Given the description of an element on the screen output the (x, y) to click on. 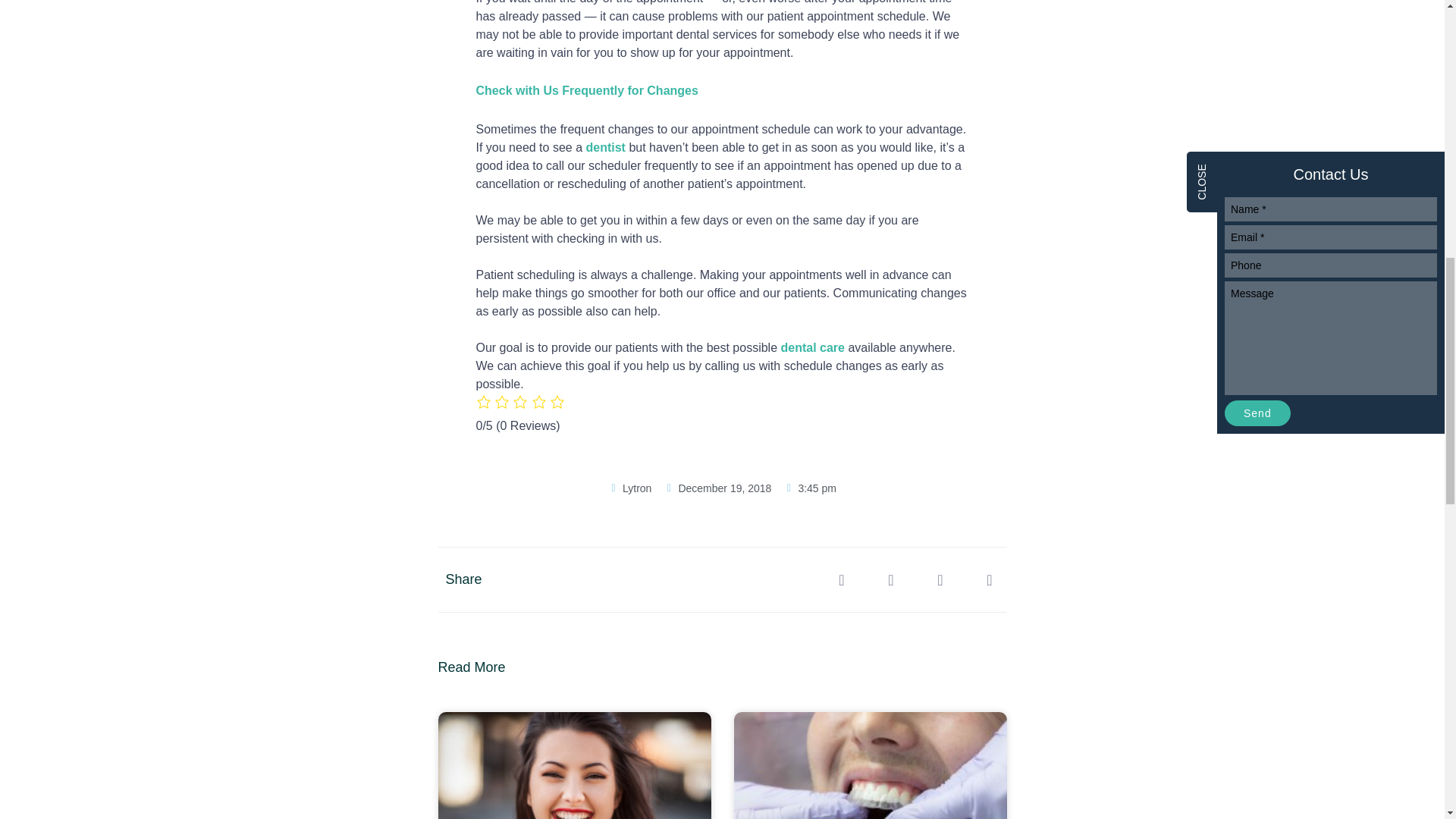
ava-4.jpg (574, 765)
dental care (812, 347)
Lytron (629, 488)
9V9A2726 (870, 765)
dentist (604, 146)
